Given the description of an element on the screen output the (x, y) to click on. 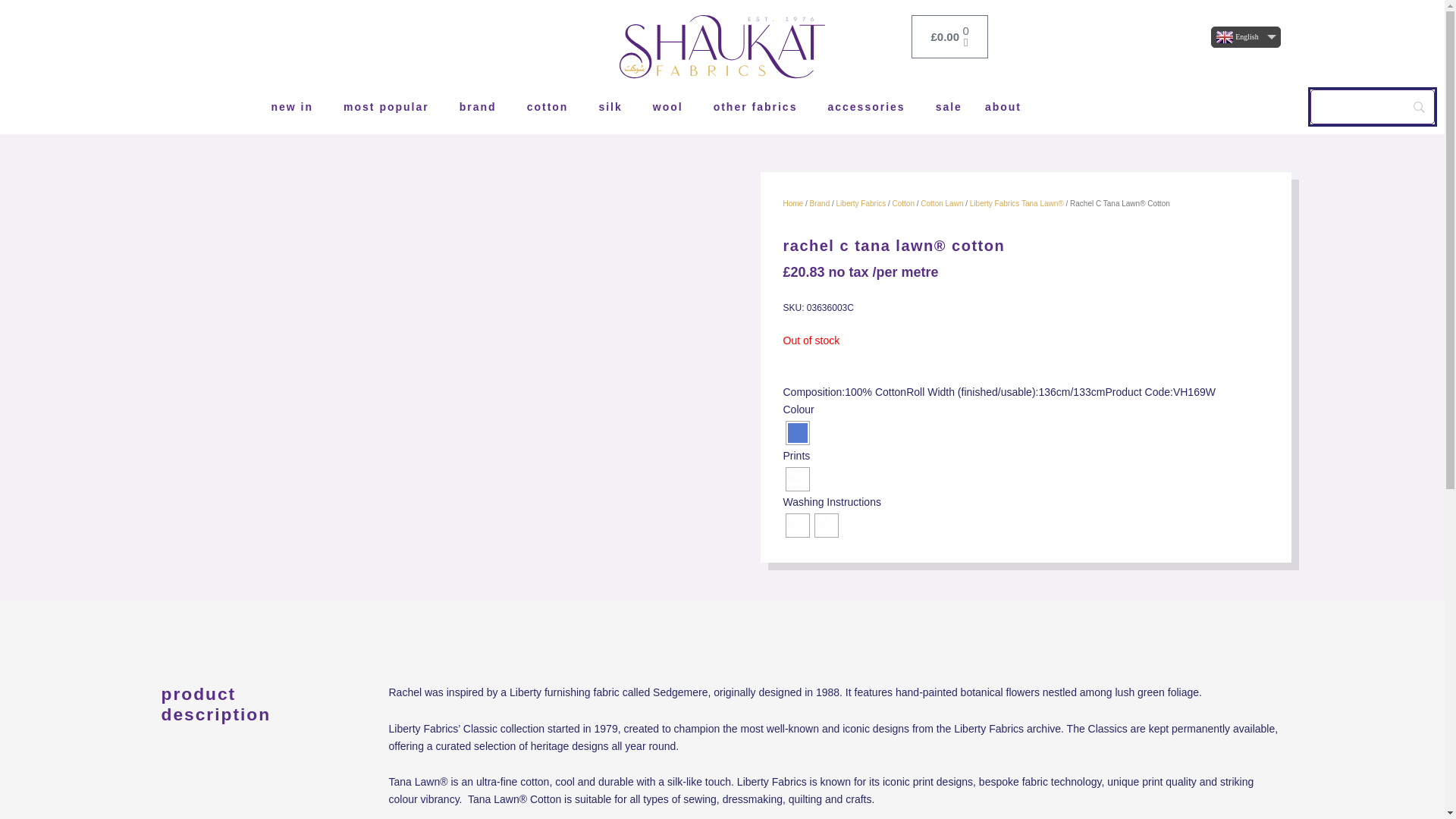
English (1246, 35)
most popular (389, 106)
brand (481, 106)
new in (295, 106)
